Given the description of an element on the screen output the (x, y) to click on. 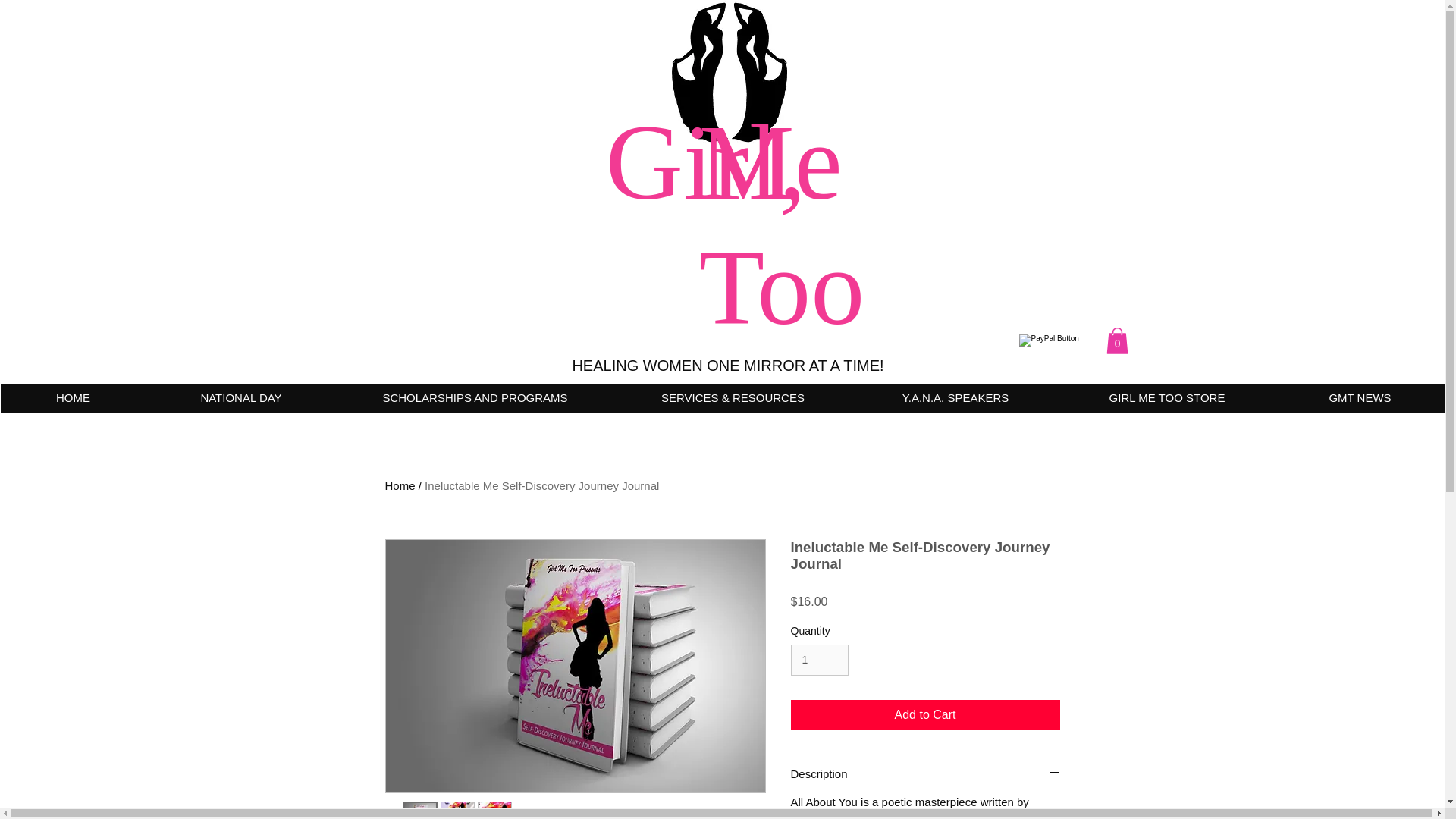
1 (818, 659)
NATIONAL DAY (239, 398)
Description (924, 774)
HOME (72, 398)
Add to Cart (924, 715)
GMT NEWS (1359, 398)
SCHOLARSHIPS AND PROGRAMS (473, 398)
Y.A.N.A. SPEAKERS (954, 398)
Home (399, 485)
Ineluctable Me Self-Discovery Journey Journal (542, 485)
GIRL ME TOO STORE (1166, 398)
